Given the description of an element on the screen output the (x, y) to click on. 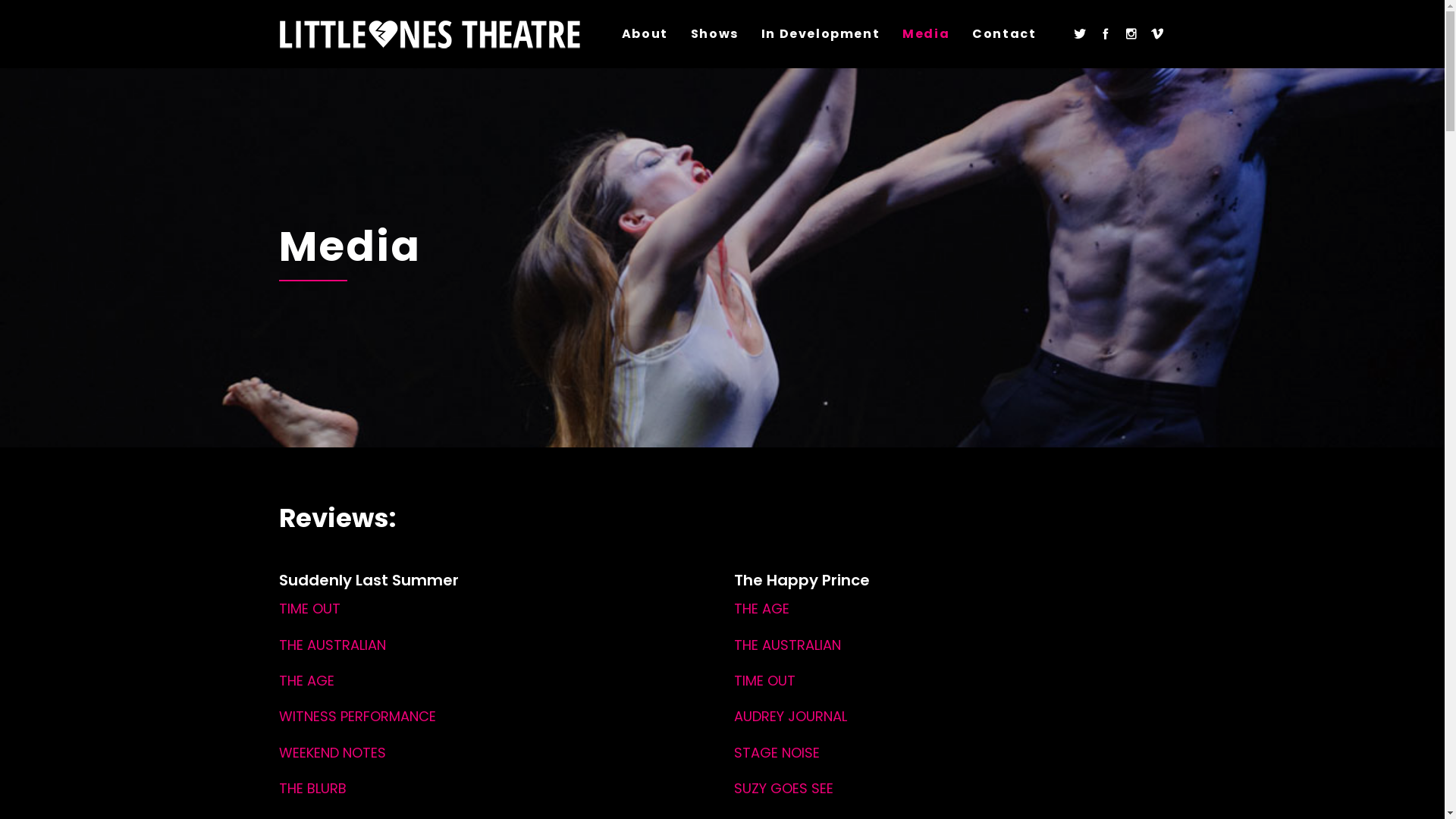
SUZY GOES SEE Element type: text (783, 787)
AUDREY JOURNAL Element type: text (790, 715)
WITNESS PERFORMANCE Element type: text (357, 715)
Shows Element type: text (714, 34)
STAGE NOISE Element type: text (776, 752)
TIME OUT Element type: text (764, 680)
THE AGE Element type: text (306, 680)
In Development Element type: text (820, 34)
THE BLURB Element type: text (312, 787)
Little Ones Theatre Element type: hover (430, 33)
Media Element type: text (925, 34)
About Element type: text (644, 34)
THE AUSTRALIAN Element type: text (787, 644)
TIME OUT Element type: text (309, 608)
THE AGE Element type: text (761, 608)
THE AUSTRALIAN Element type: text (332, 644)
WEEKEND NOTES Element type: text (332, 752)
Contact Element type: text (1003, 34)
